Given the description of an element on the screen output the (x, y) to click on. 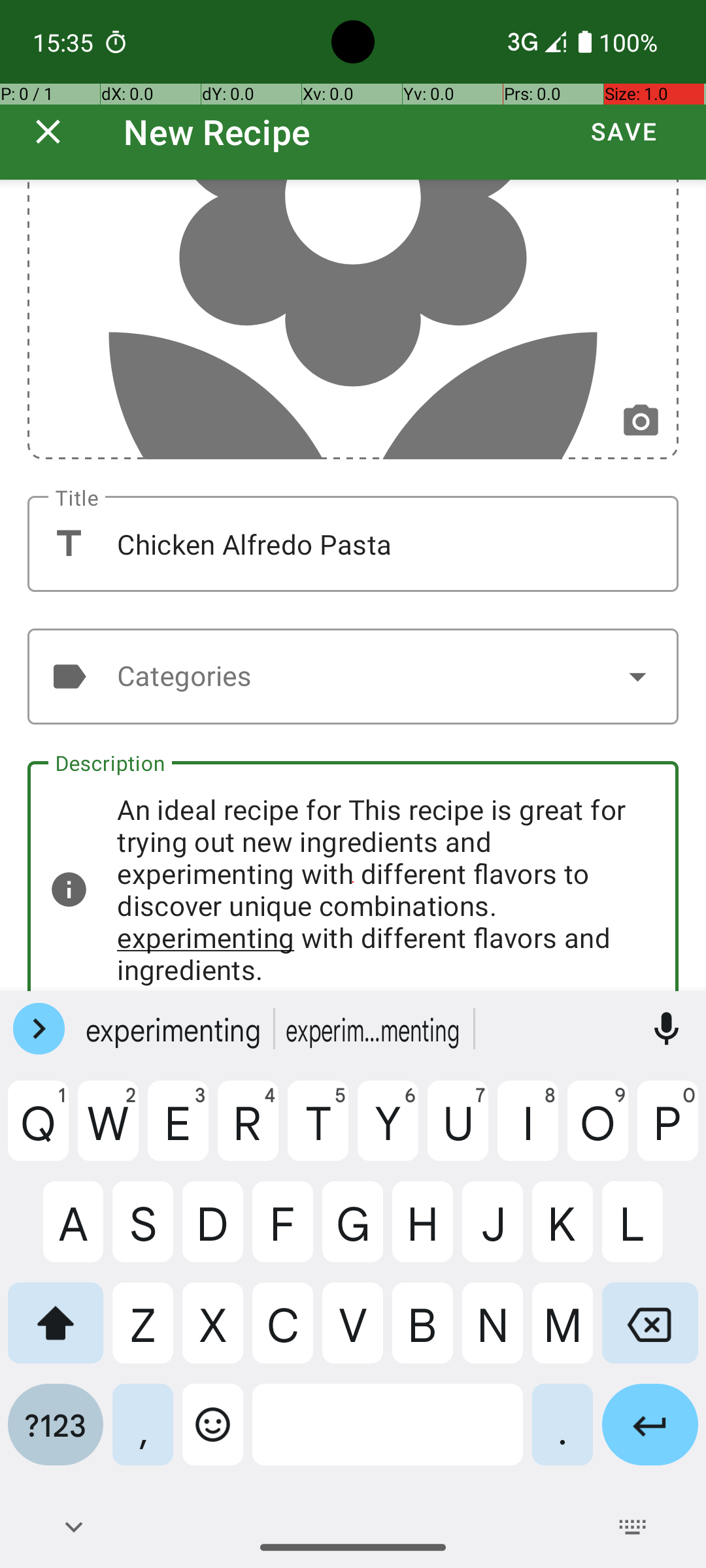
Change photo Element type: android.widget.ImageView (640, 421)
Chicken Alfredo Pasta Element type: android.widget.EditText (352, 543)
An ideal recipe for This recipe is great for trying out new ingredients and experimenting with different flavors to discover unique combinations.
experimenting with different flavors and ingredients. Element type: android.widget.EditText (352, 876)
experimenting Element type: android.widget.FrameLayout (175, 1028)
experimentingexperimenting Element type: android.widget.FrameLayout (375, 1028)
